Given the description of an element on the screen output the (x, y) to click on. 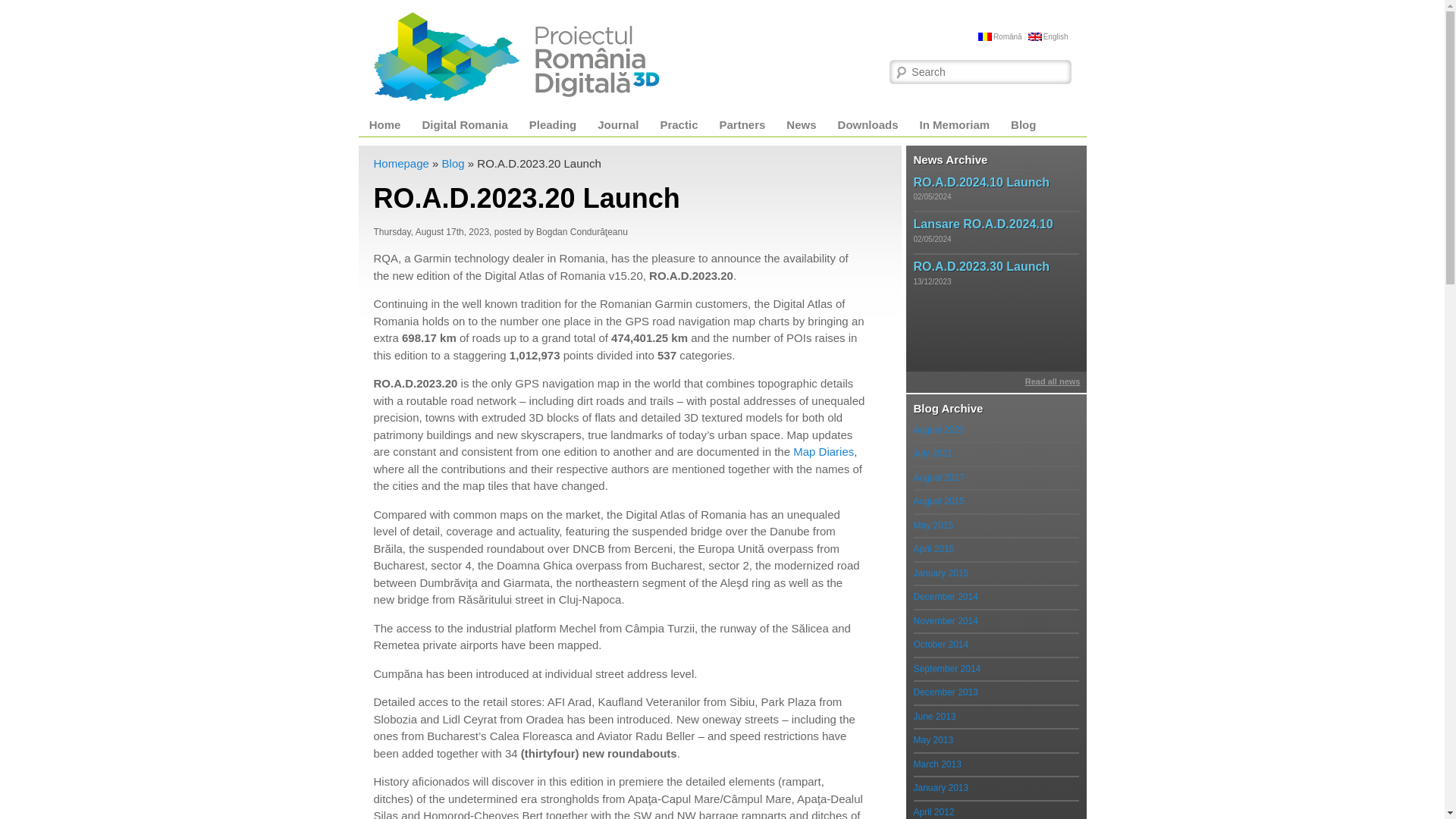
In Memoriam (954, 124)
Partners (741, 124)
Permalink to RO.A.D.2023.30 Launch (980, 266)
Search (24, 8)
English (1047, 36)
English (1047, 36)
Skip to primary content (441, 124)
Blog (453, 163)
Blog (1023, 124)
Pleading (553, 124)
Permalink to Lansare RO.A.D.2024.10 (982, 223)
News (801, 124)
Permalink to RO.A.D.2024.10 Launch (980, 182)
Homepage (400, 163)
Map Diaries (823, 451)
